Given the description of an element on the screen output the (x, y) to click on. 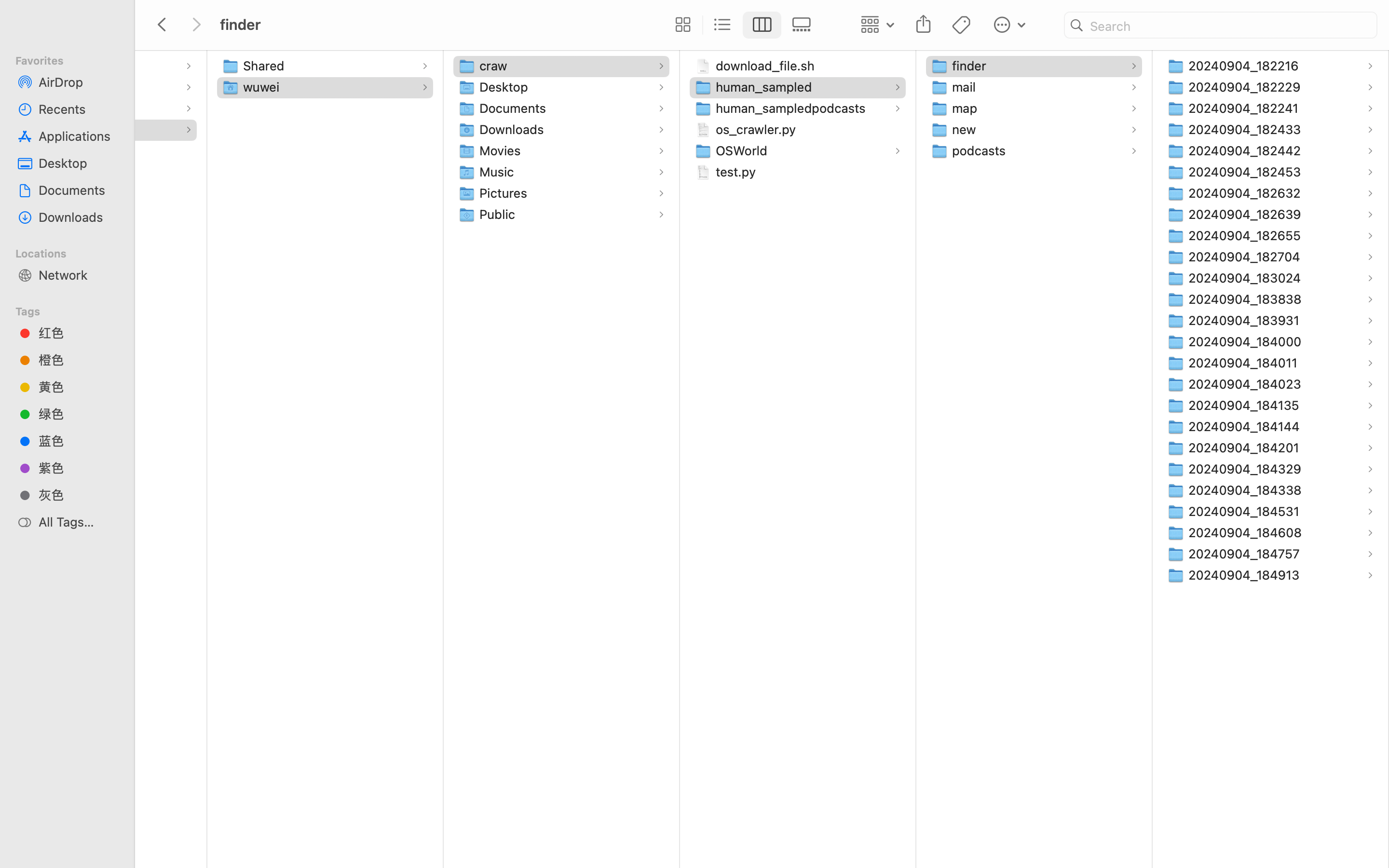
Music Element type: AXTextField (498, 171)
20240904_184913 Element type: AXTextField (1246, 574)
20240904_182655 Element type: AXTextField (1246, 235)
20240904_182639 Element type: AXTextField (1246, 213)
20240904_184338 Element type: AXTextField (1246, 489)
